Given the description of an element on the screen output the (x, y) to click on. 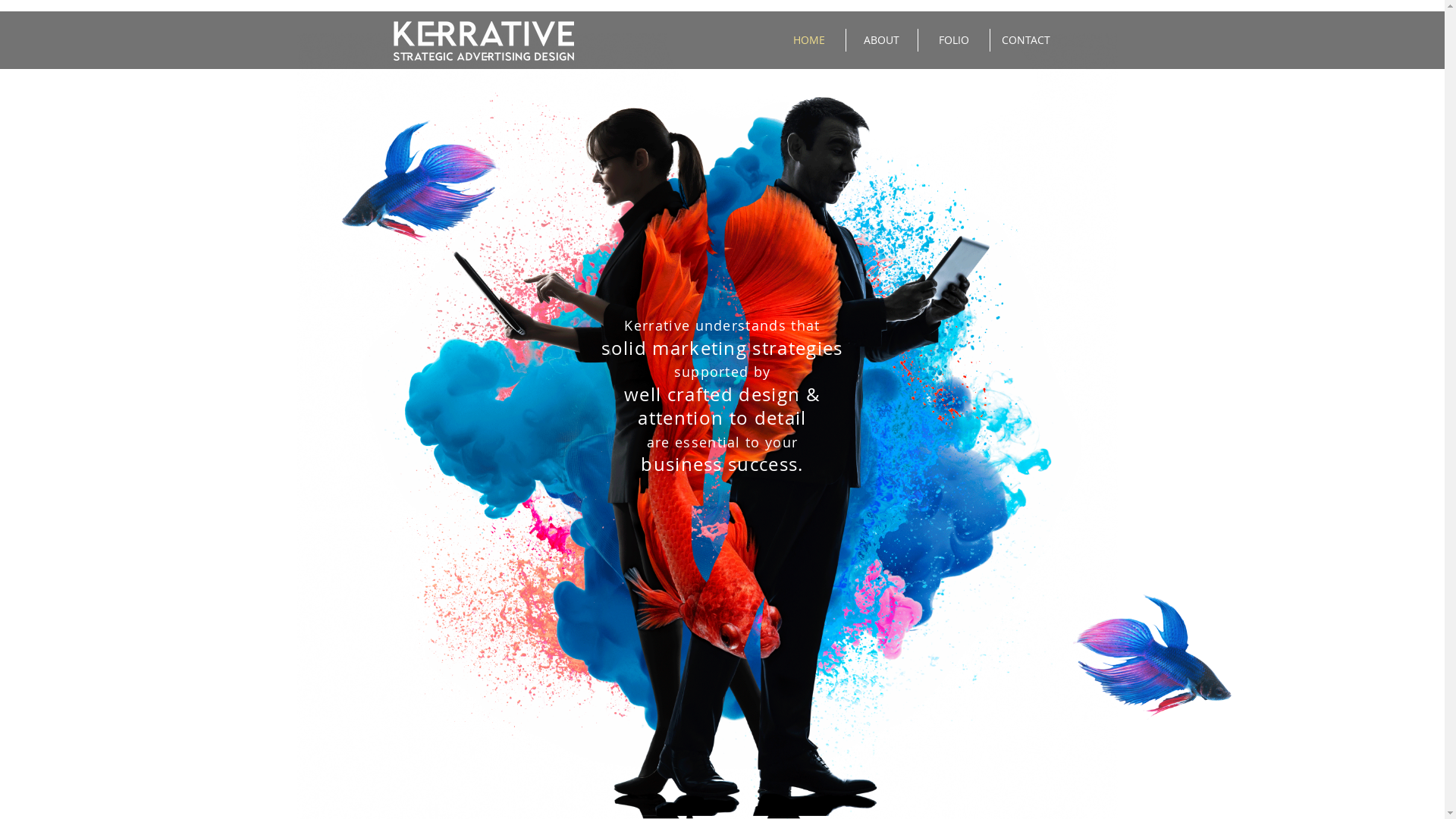
CONTACT Element type: text (1025, 39)
ABOUT Element type: text (881, 39)
Strategic Advertising Design Element type: hover (482, 40)
HOME Element type: text (809, 39)
FOLIO Element type: text (952, 39)
